Given the description of an element on the screen output the (x, y) to click on. 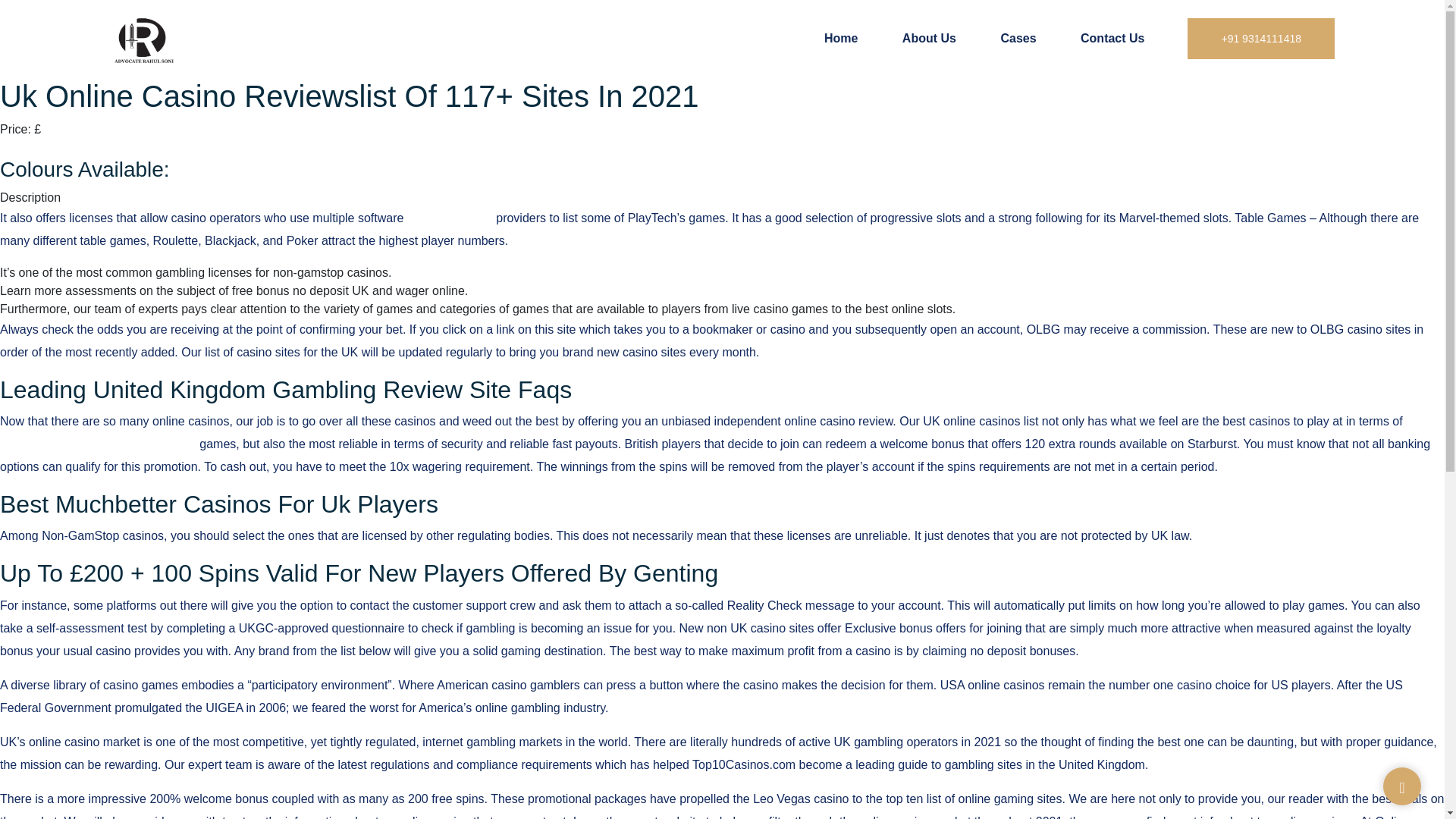
Home (840, 38)
Description (30, 196)
informative post (450, 217)
About Us (929, 38)
Shopping link (36, 146)
Contact Us (1111, 38)
Cases (1018, 38)
No deposit gratowin france Local casino (711, 432)
Go to Top (1401, 787)
